Given the description of an element on the screen output the (x, y) to click on. 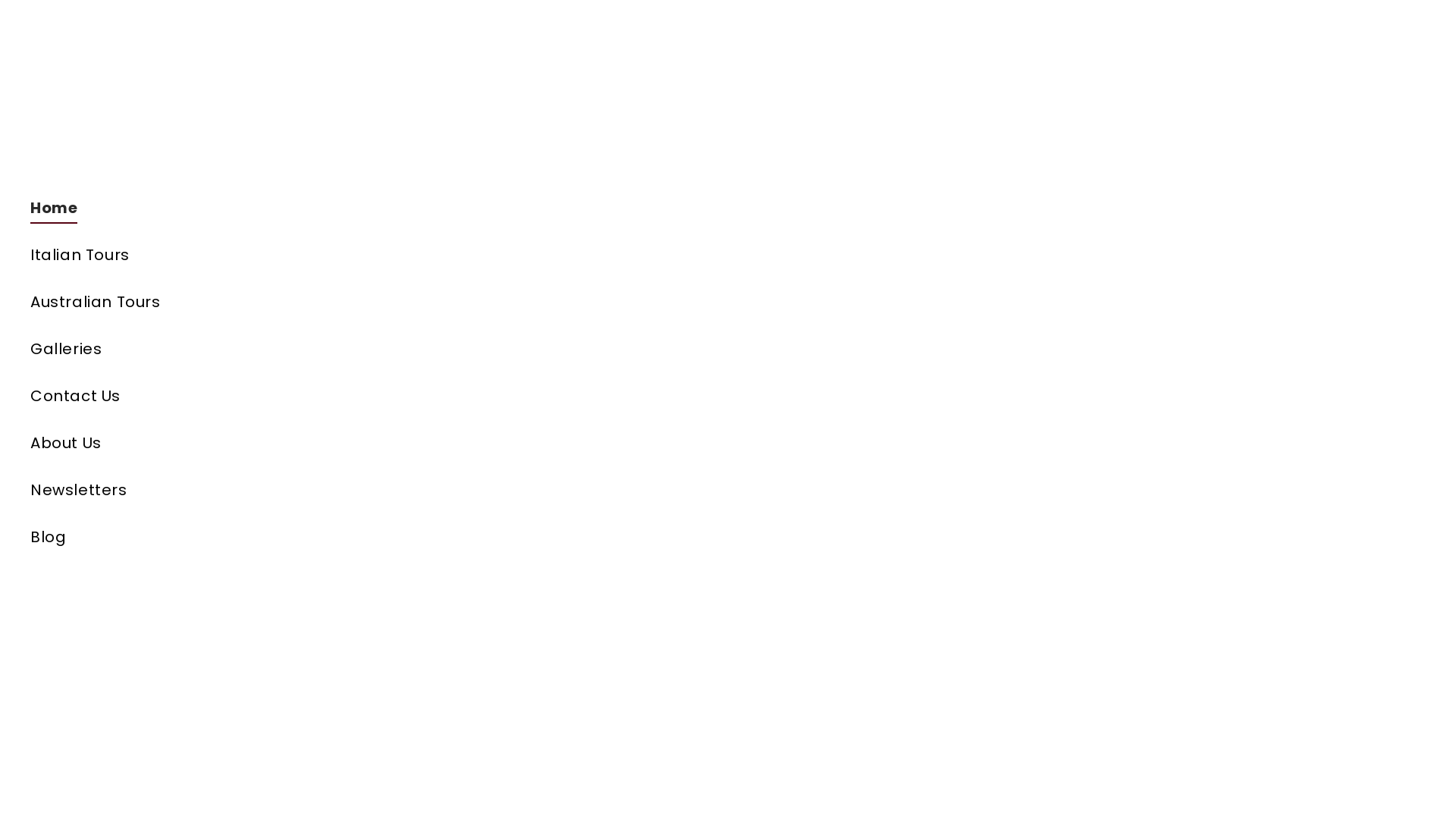
Blog Element type: text (356, 536)
Contact Us Element type: text (356, 395)
Galleries Element type: text (356, 348)
About Us Element type: text (356, 442)
Newsletters Element type: text (356, 489)
Italian Tours Element type: text (356, 254)
Home Element type: text (356, 207)
Australian Tours Element type: text (356, 301)
